Given the description of an element on the screen output the (x, y) to click on. 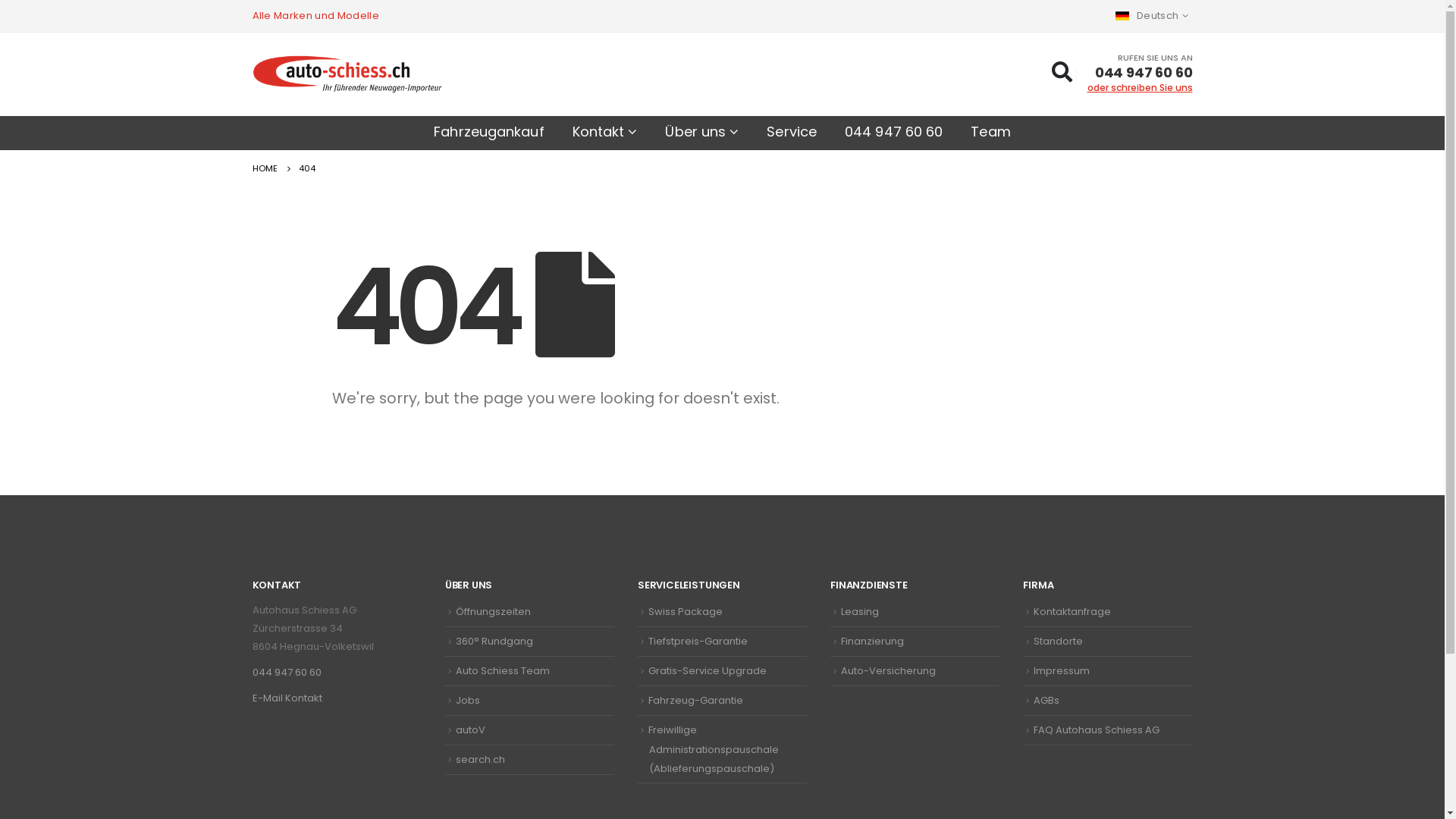
Service Element type: text (791, 133)
Swiss Package Element type: text (685, 611)
Jobs Element type: text (467, 700)
AGBs Element type: text (1046, 700)
Tiefstpreis-Garantie Element type: text (697, 640)
Kontaktanfrage Element type: text (1071, 611)
Fahrzeug-Garantie Element type: text (695, 700)
search.ch Element type: text (480, 759)
Freiwillige Administrationspauschale (Ablieferungspauschale) Element type: text (713, 748)
Gratis-Service Upgrade Element type: text (707, 670)
autoV Element type: text (470, 729)
Auto-Versicherung Element type: text (887, 670)
044 947 60 60 Element type: text (285, 672)
Auto Schiess AG -  Element type: hover (346, 73)
Finanzierung Element type: text (871, 640)
Standorte Element type: text (1057, 640)
Impressum Element type: text (1061, 670)
oder schreiben Sie uns Element type: text (1139, 87)
HOME Element type: text (263, 168)
FAQ Autohaus Schiess AG Element type: text (1096, 729)
Alle Marken und Modelle Element type: text (314, 15)
Auto Schiess Team Element type: text (502, 670)
E-Mail Kontakt Element type: text (286, 697)
Deutsch Element type: text (1153, 15)
044 947 60 60 Element type: text (893, 133)
Team Element type: text (990, 133)
Kontakt Element type: text (604, 133)
Fahrzeugankauf Element type: text (488, 133)
Leasing Element type: text (859, 611)
